Given the description of an element on the screen output the (x, y) to click on. 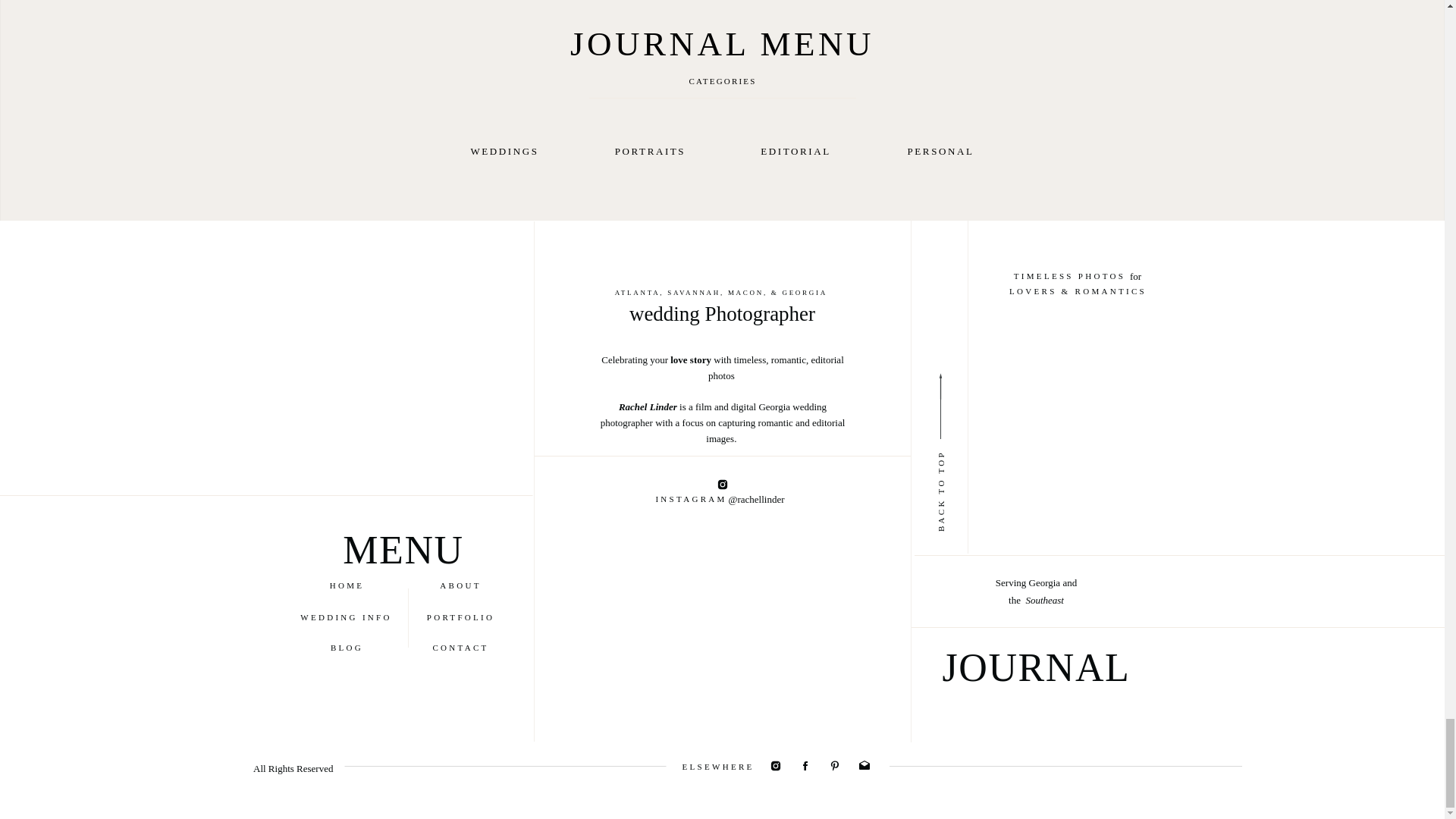
WEDDING INFO (345, 619)
INSTAGRAM (691, 500)
BACK TO TOP (980, 452)
PORTFOLIO (460, 619)
PERSONAL (940, 150)
HOME (346, 587)
WEDDINGS (505, 150)
JOURNAL (1096, 667)
EDITORIAL (796, 150)
ABOUT (460, 587)
BLOG (347, 649)
CONTACT (460, 649)
PORTRAITS (650, 150)
